Given the description of an element on the screen output the (x, y) to click on. 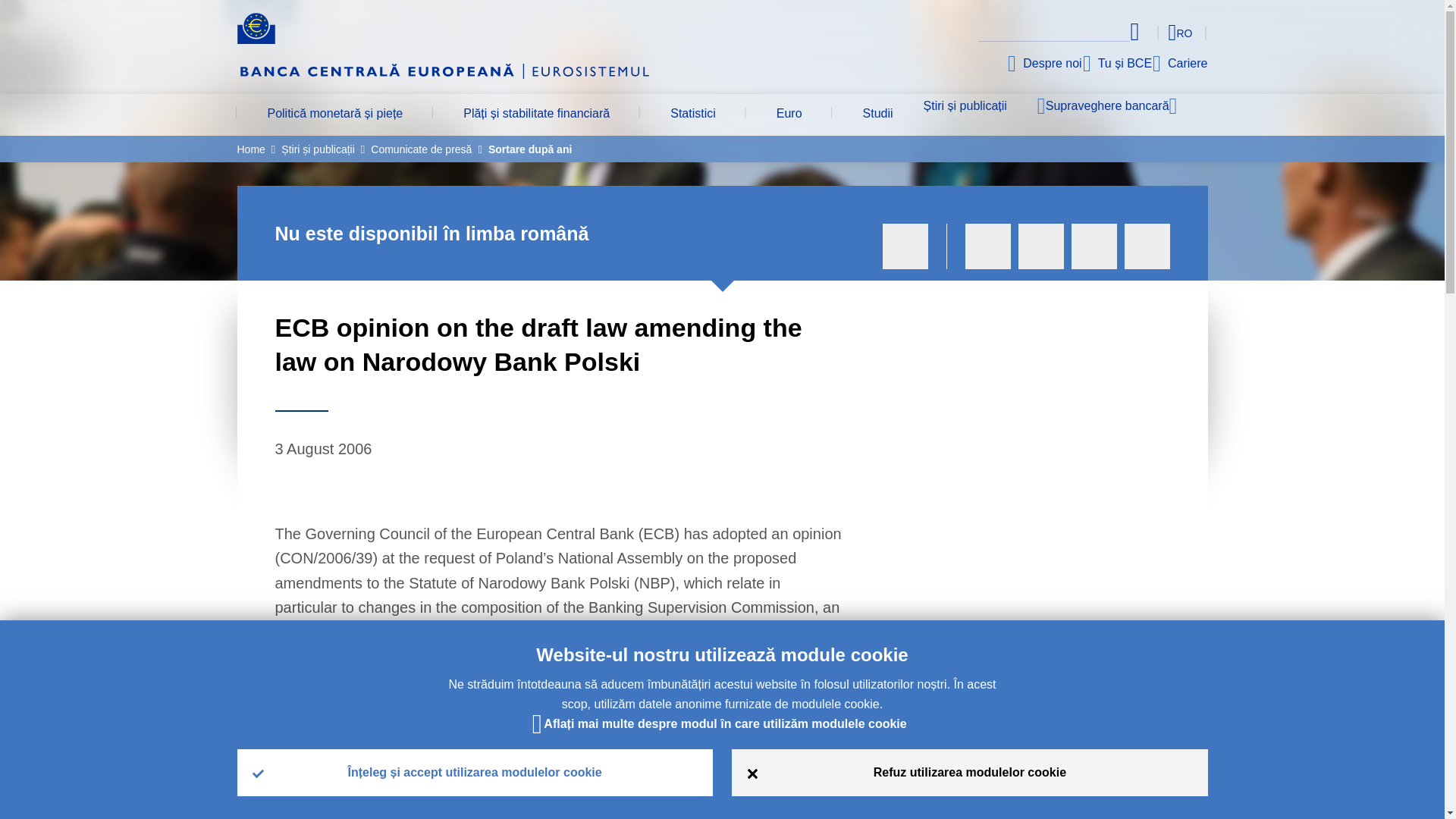
Select language (1153, 32)
